Given the description of an element on the screen output the (x, y) to click on. 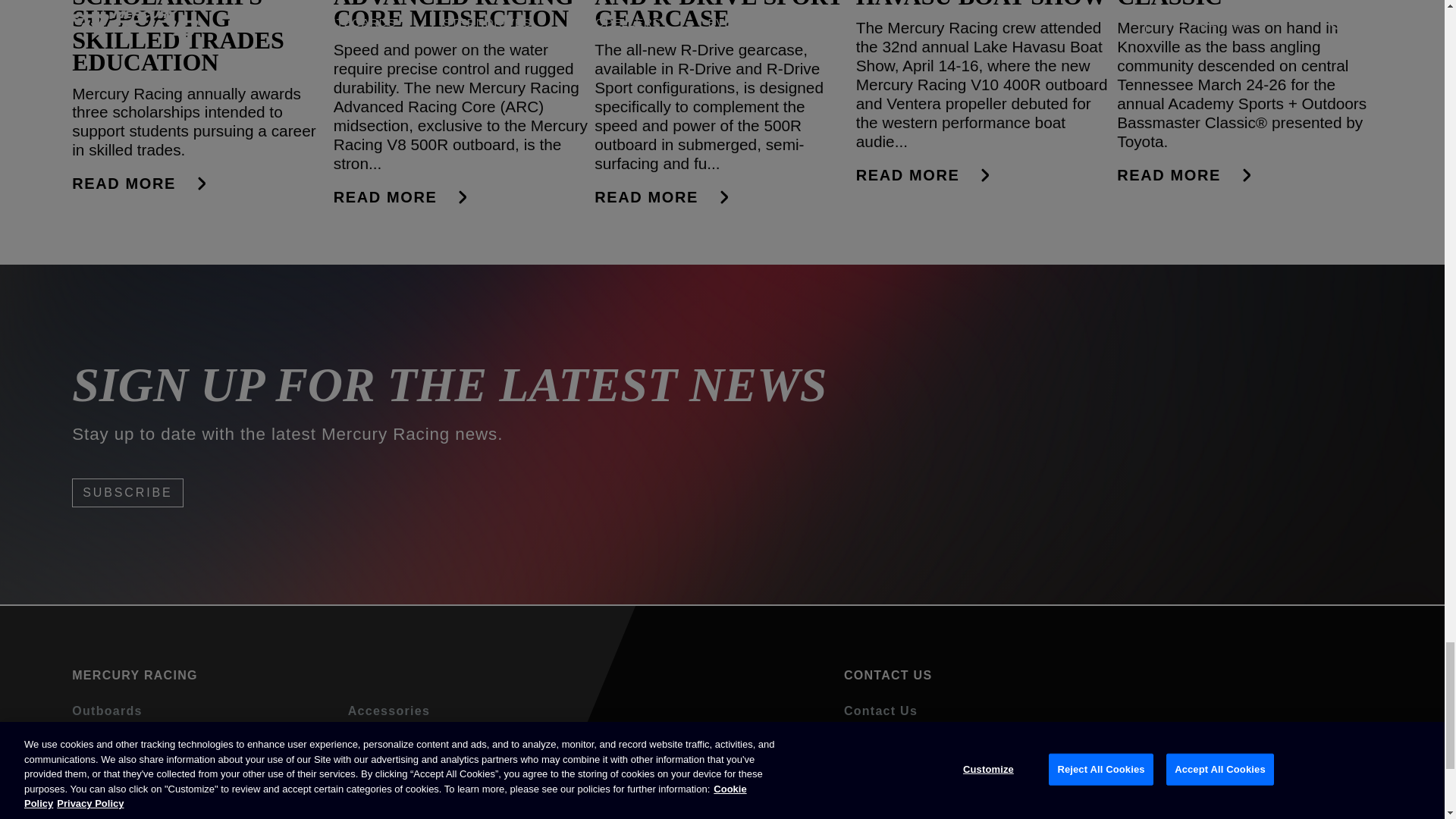
This link opens in new tab (1147, 812)
This link opens in new tab (876, 812)
This link opens in new tab (895, 756)
